Given the description of an element on the screen output the (x, y) to click on. 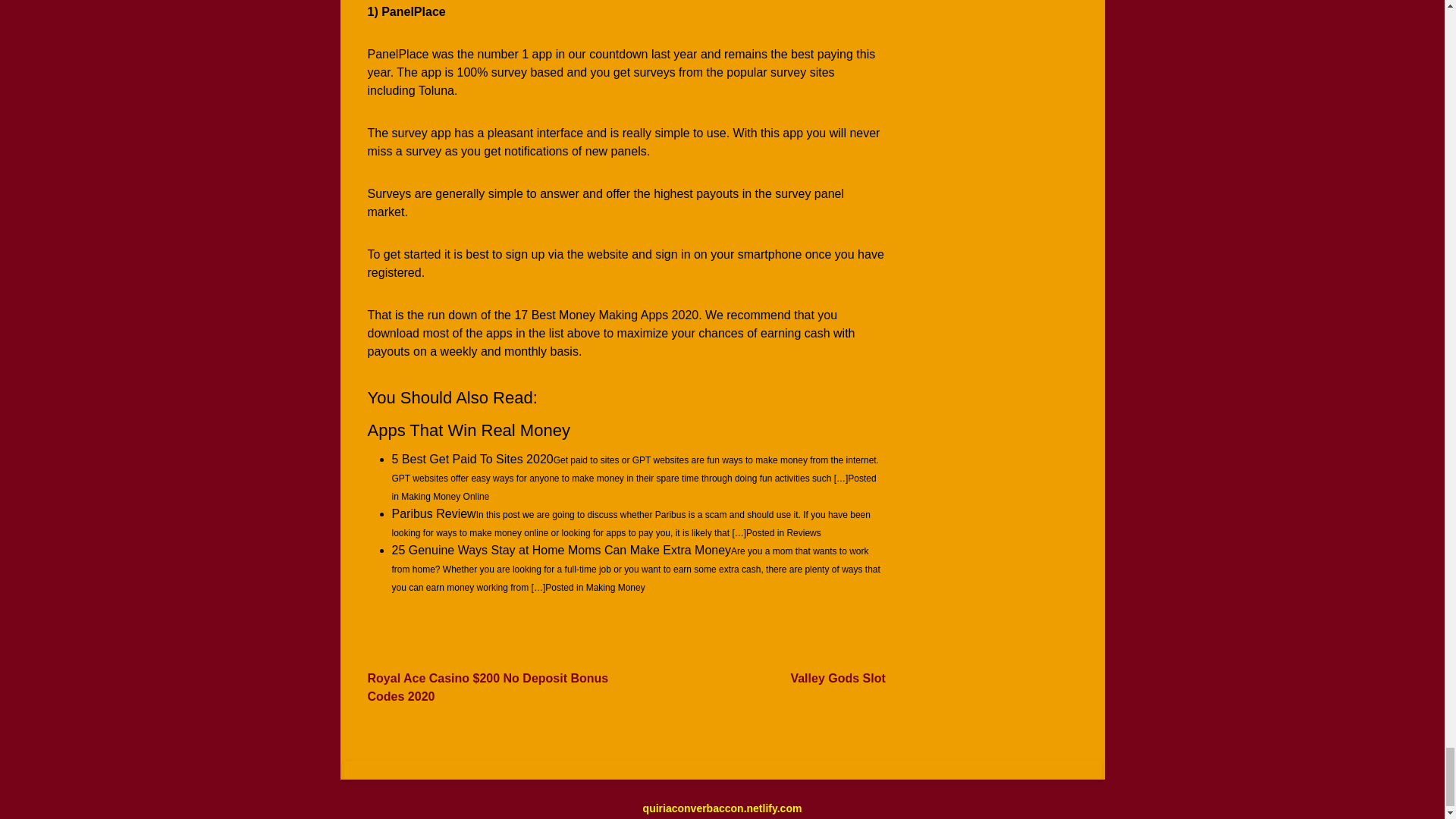
Valley Gods Slot (837, 677)
quiriaconverbaccon.netlify.com (722, 808)
